Given the description of an element on the screen output the (x, y) to click on. 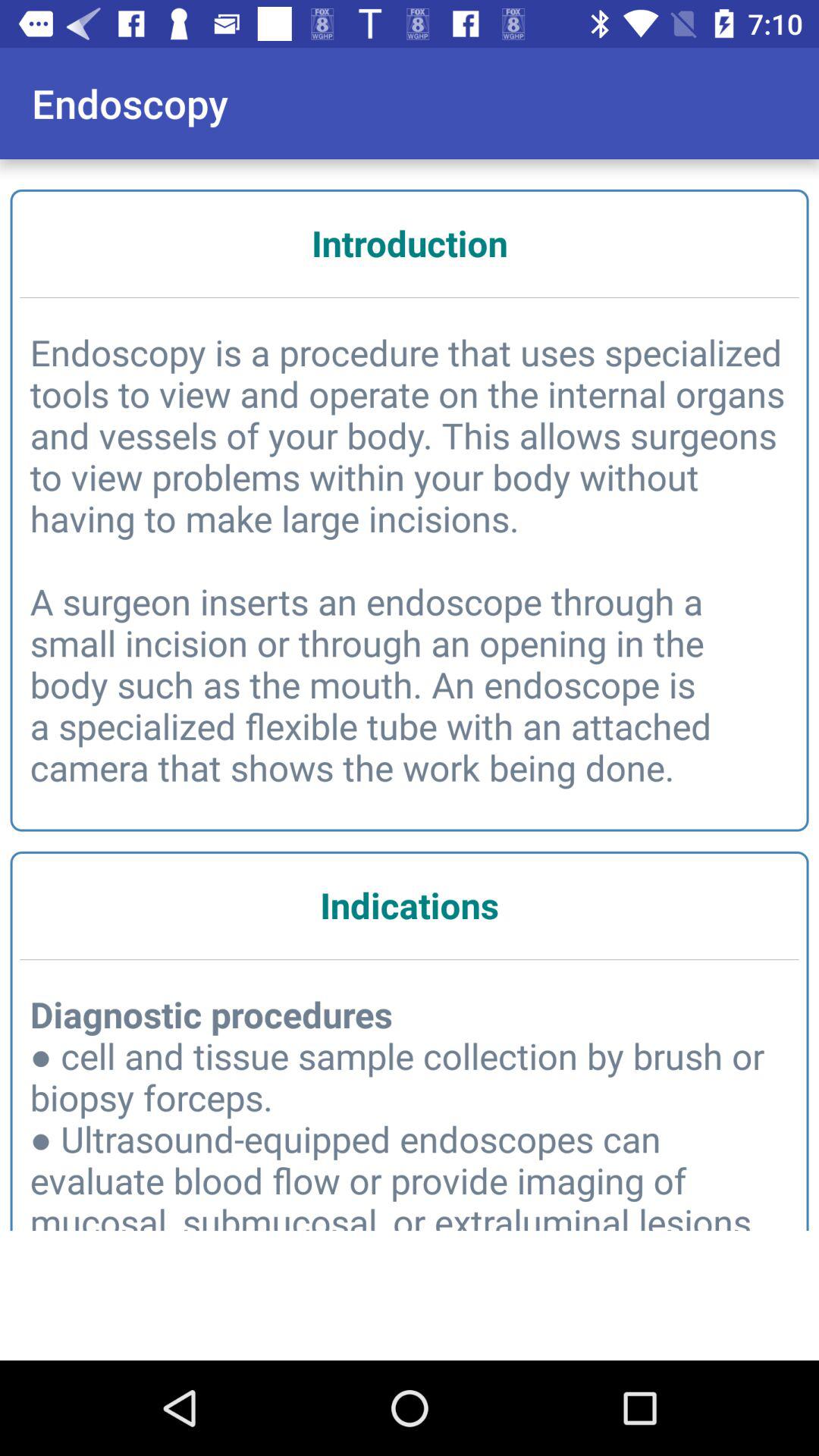
select the item below diagnostic procedures cell icon (409, 1310)
